Given the description of an element on the screen output the (x, y) to click on. 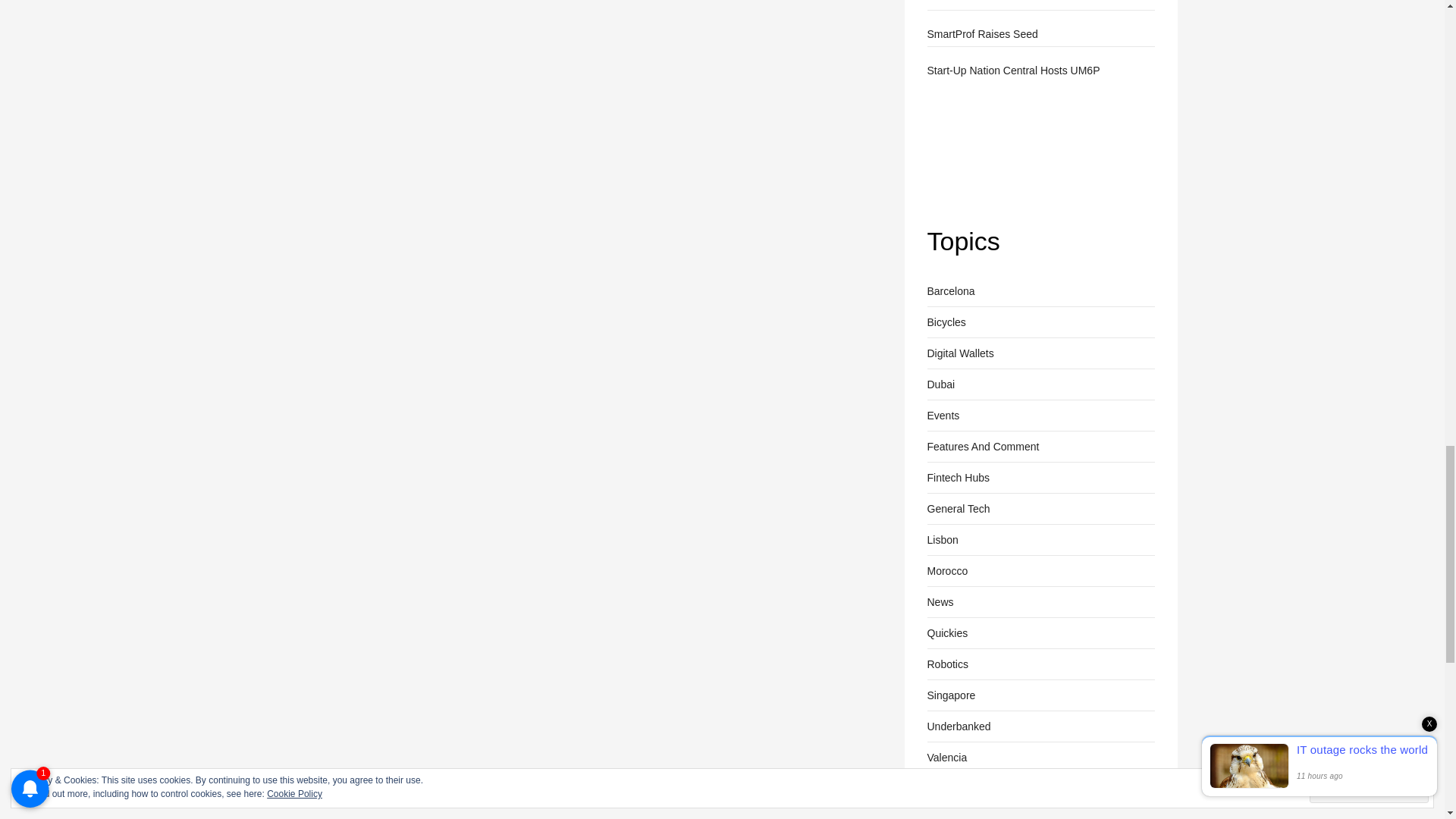
Digital wallets (959, 353)
Start-Up Nation Central hosts UM6P (983, 144)
General tech (958, 508)
fintech hubs (957, 477)
portugal (942, 539)
